Given the description of an element on the screen output the (x, y) to click on. 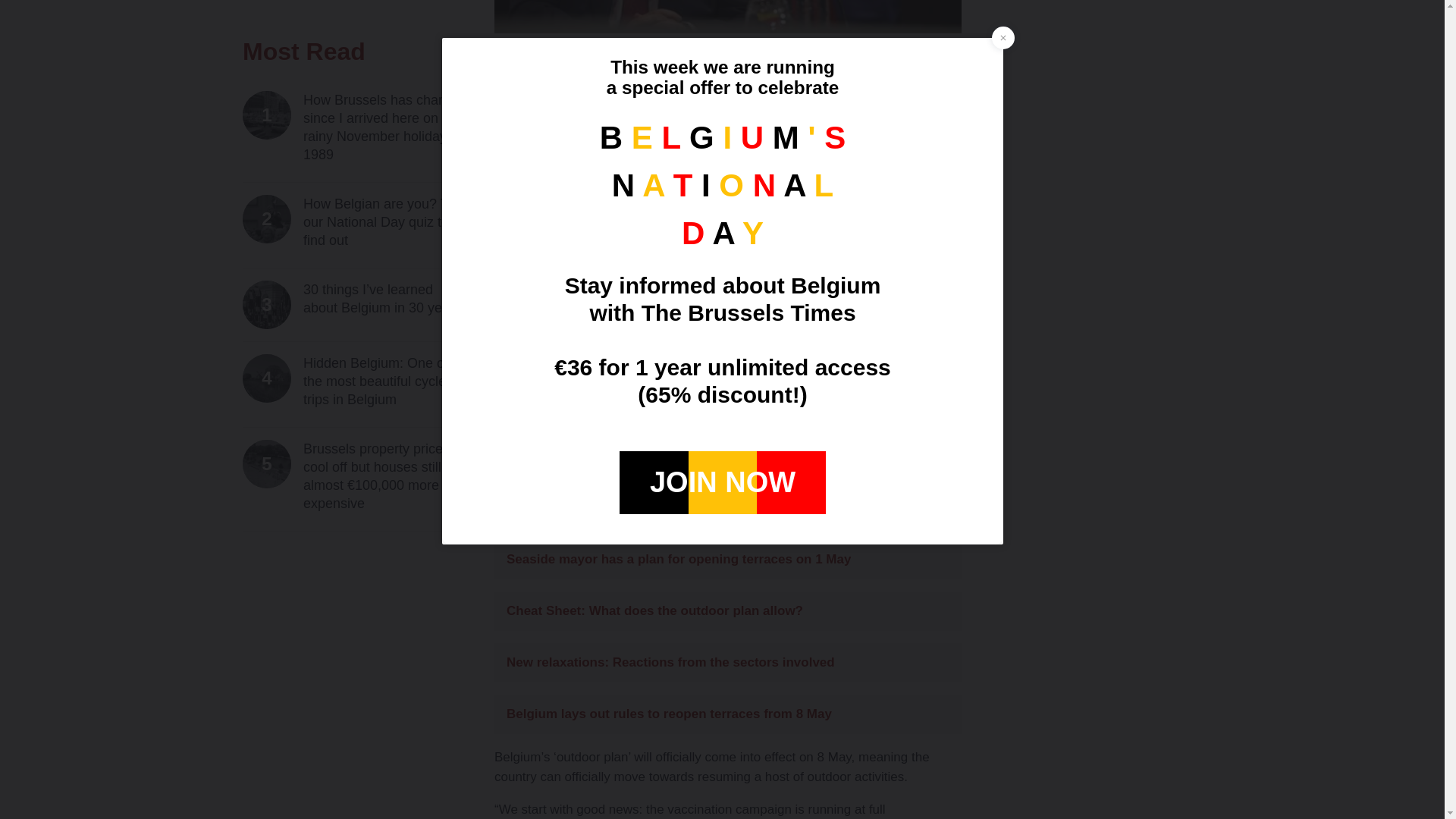
3rd party ad content (1098, 12)
